Given the description of an element on the screen output the (x, y) to click on. 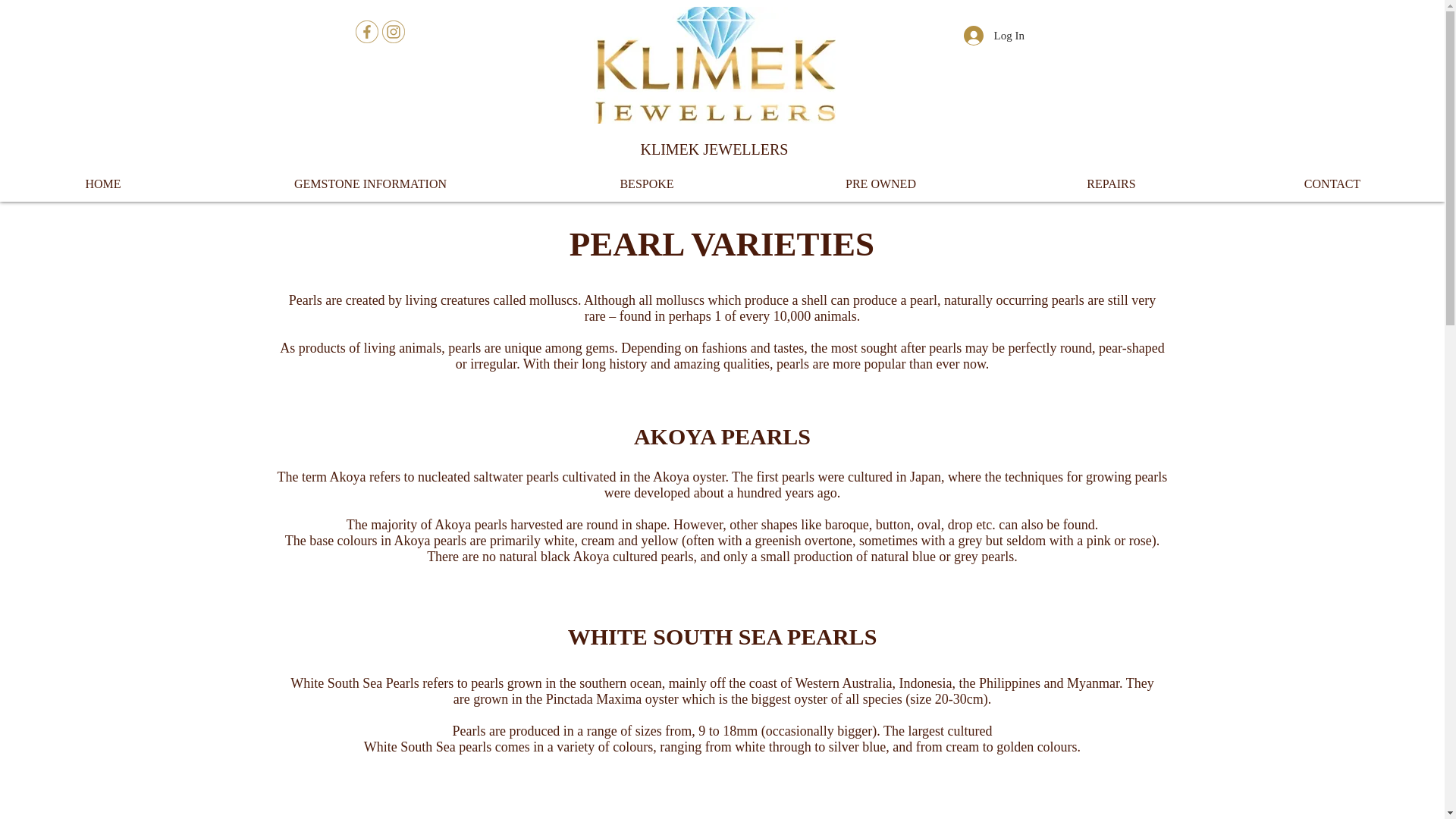
REPAIRS (1111, 183)
PRE OWNED (880, 183)
GEMSTONE INFORMATION (370, 183)
HOME (103, 183)
BESPOKE (646, 183)
Log In (980, 35)
